Given the description of an element on the screen output the (x, y) to click on. 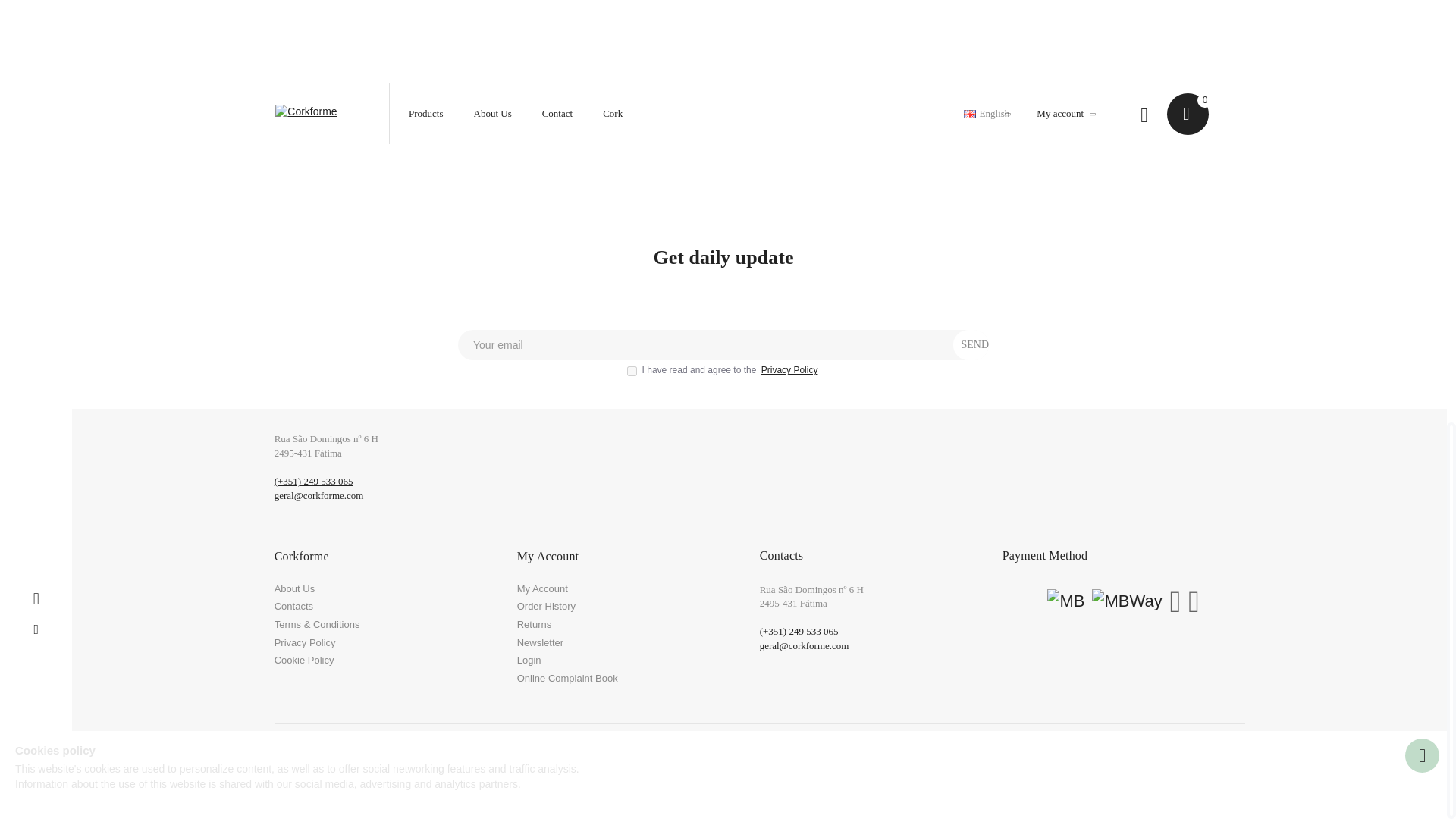
MBWay (1126, 601)
1 (632, 370)
MB (1065, 601)
